Given the description of an element on the screen output the (x, y) to click on. 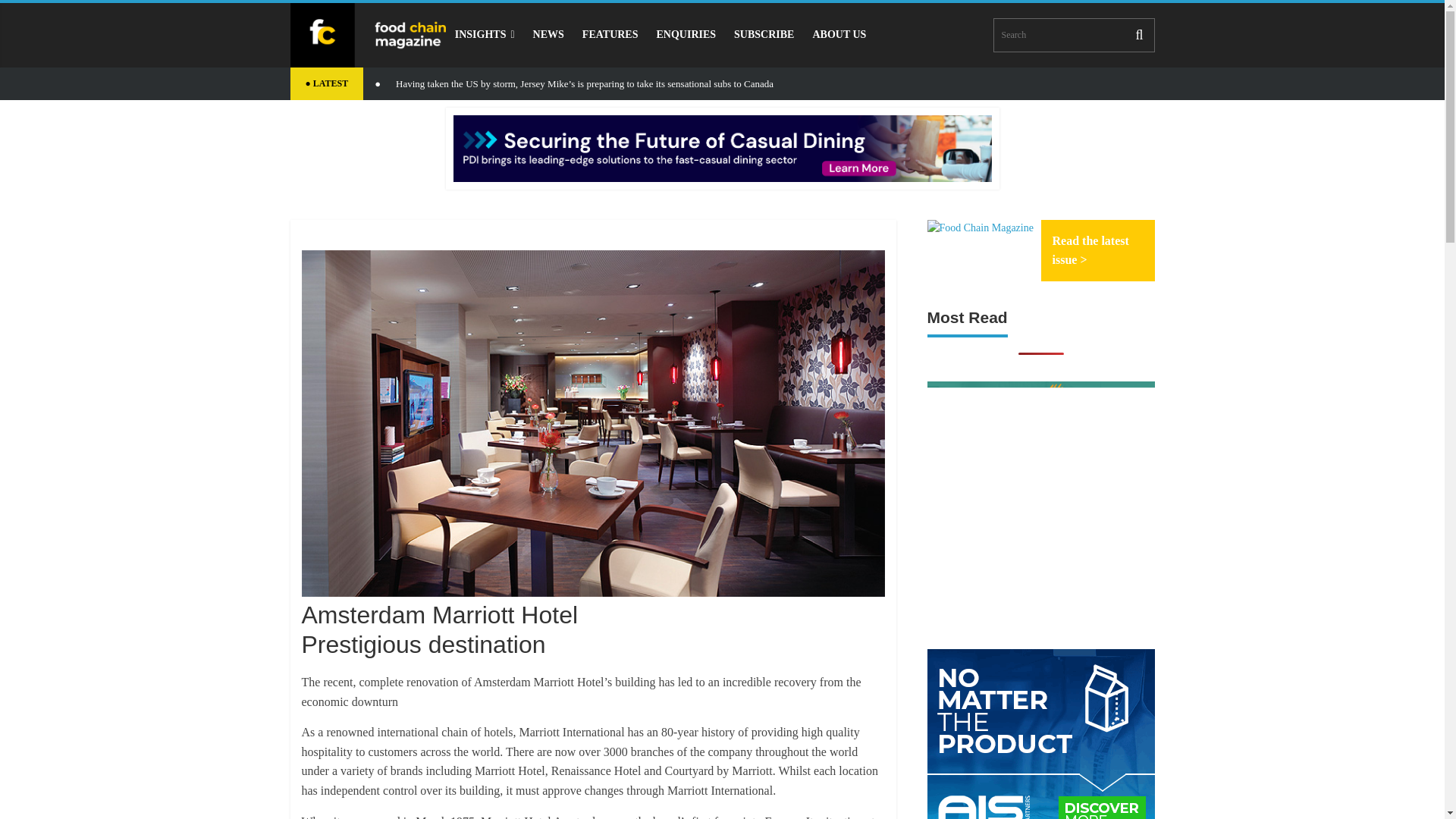
ABOUT US (839, 34)
NEWS (548, 34)
SUBSCRIBE (764, 34)
INSIGHTS (484, 34)
Food Chain Magazine (979, 228)
ENQUIRIES (685, 34)
FEATURES (610, 34)
FoodChain Magazine (367, 35)
